Given the description of an element on the screen output the (x, y) to click on. 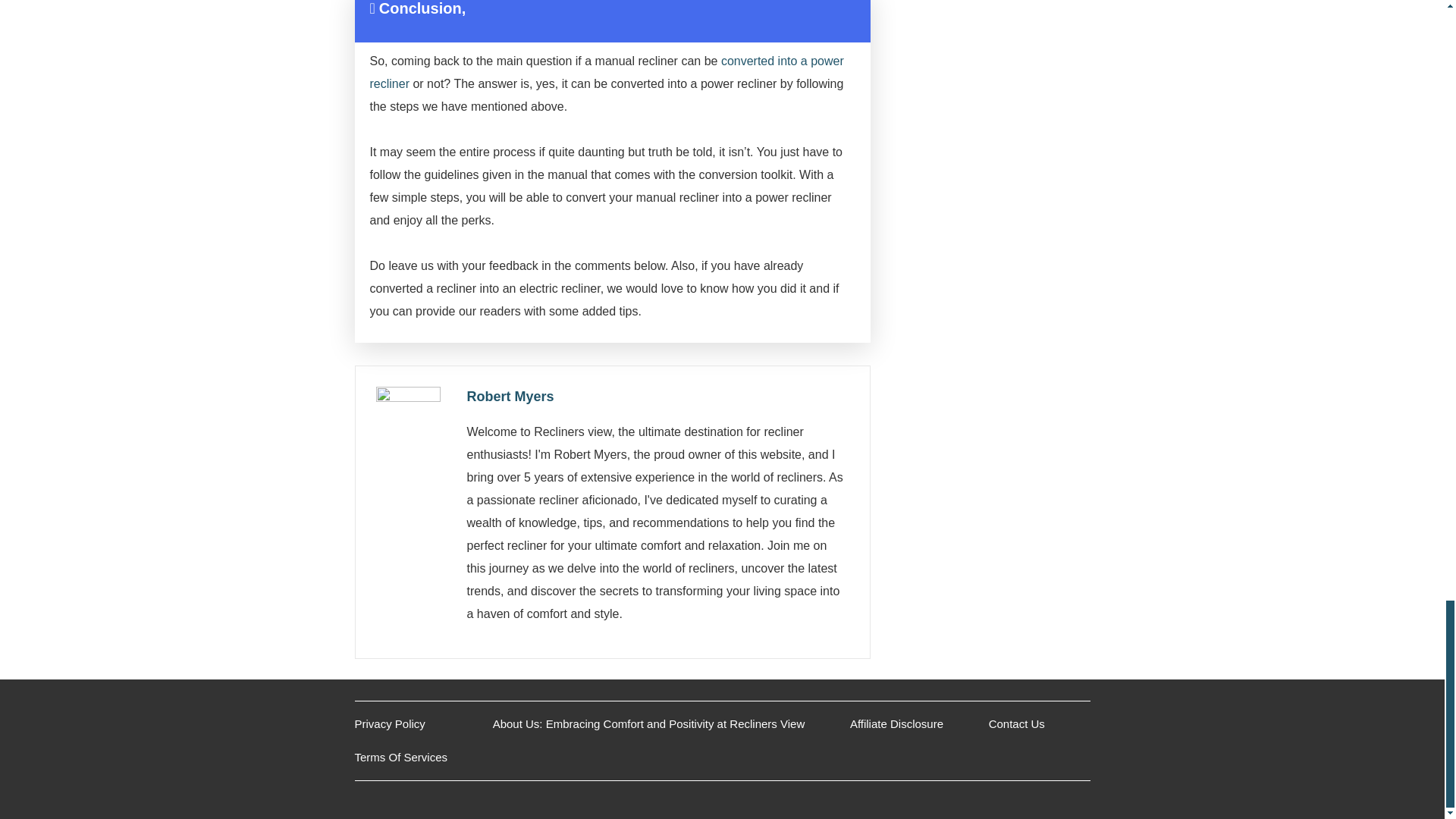
Privacy Policy (390, 723)
Contact Us (1016, 723)
Affiliate Disclosure (896, 723)
Robert Myers (510, 396)
Terms Of Services (401, 757)
About Us: Embracing Comfort and Positivity at Recliners View (649, 723)
converted into a power recliner (606, 72)
